Given the description of an element on the screen output the (x, y) to click on. 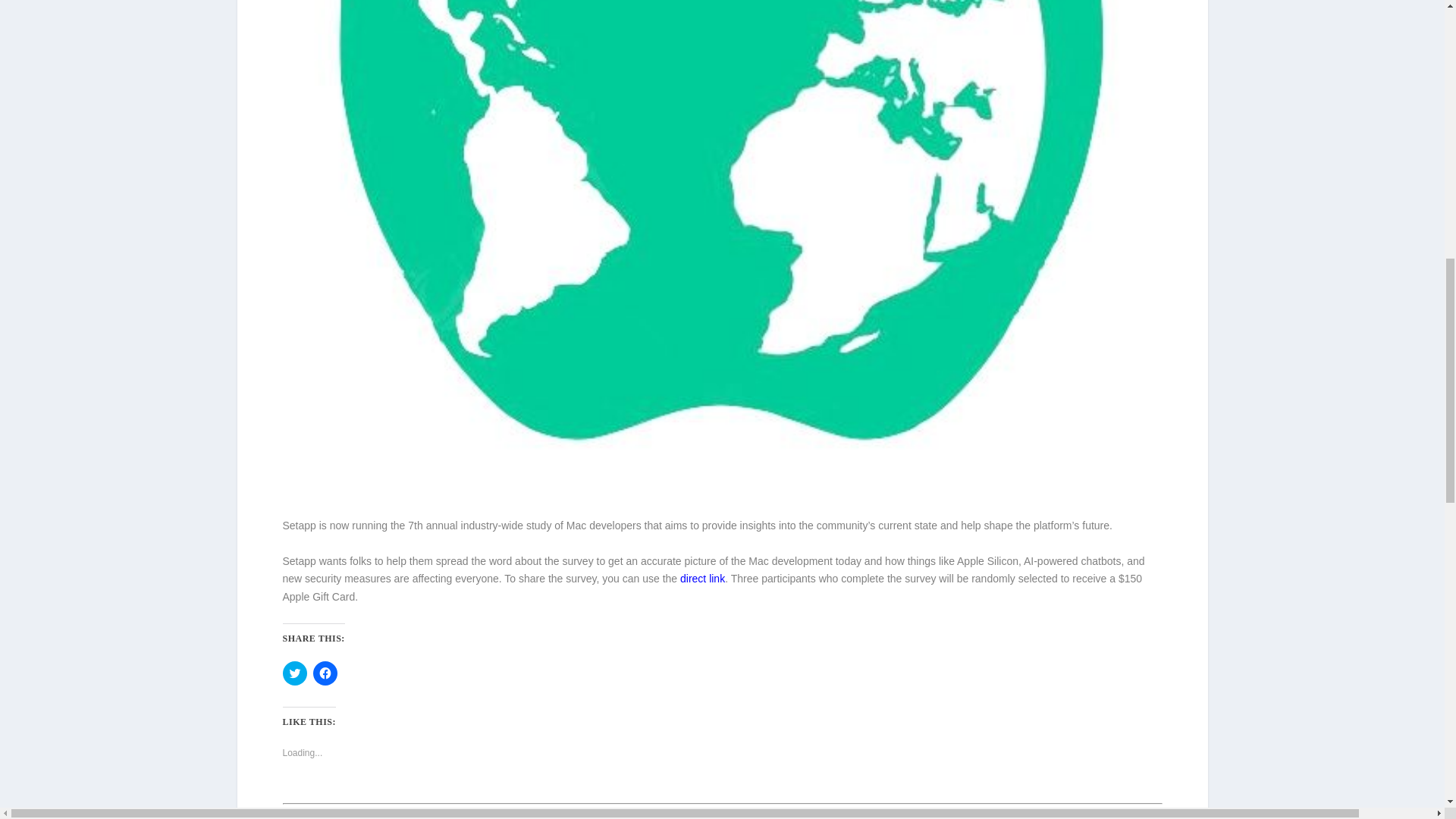
Click to share on Facebook (324, 672)
direct link (702, 578)
Click to share on Twitter (293, 672)
